Given the description of an element on the screen output the (x, y) to click on. 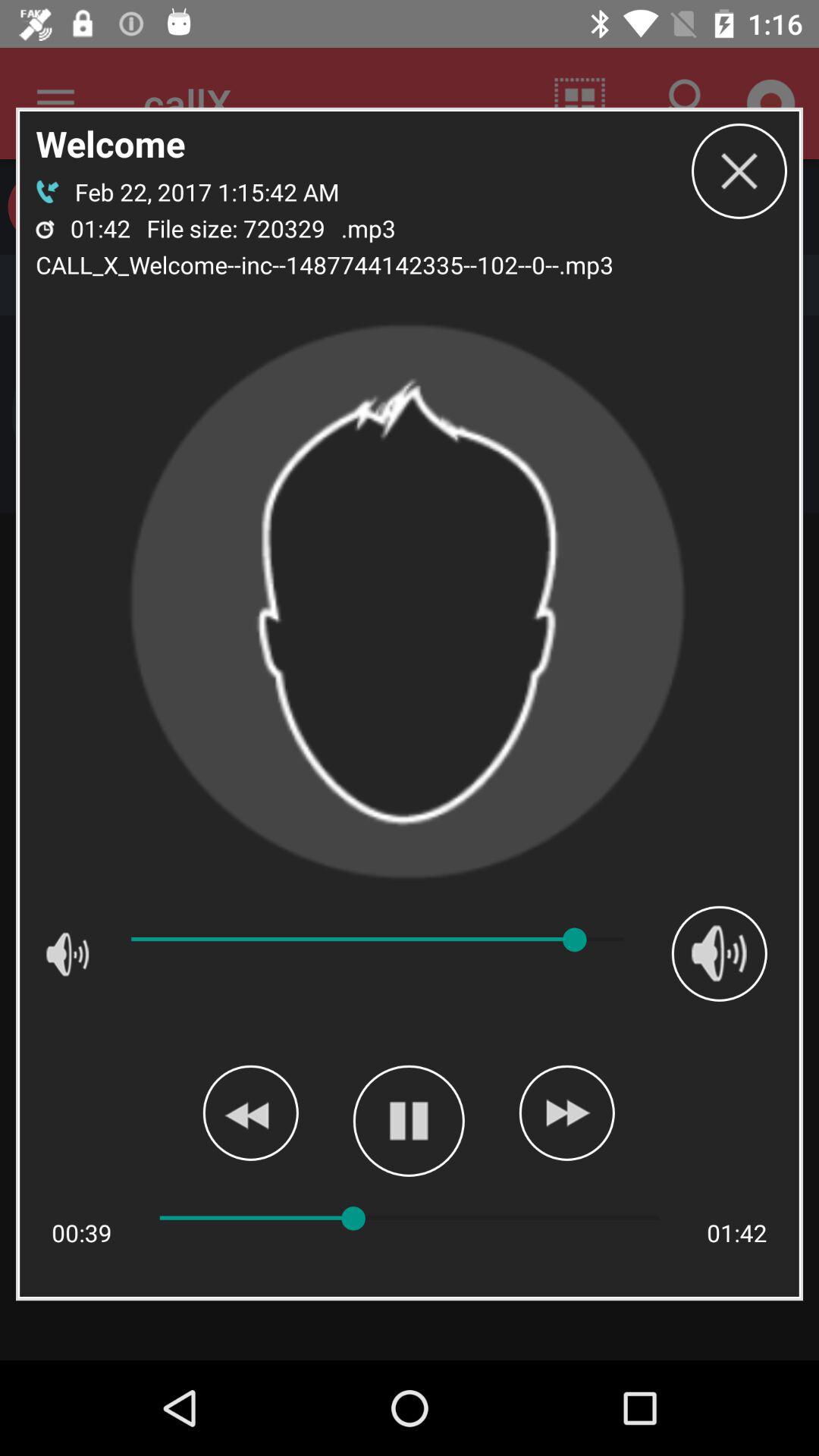
volume up button (719, 953)
